Given the description of an element on the screen output the (x, y) to click on. 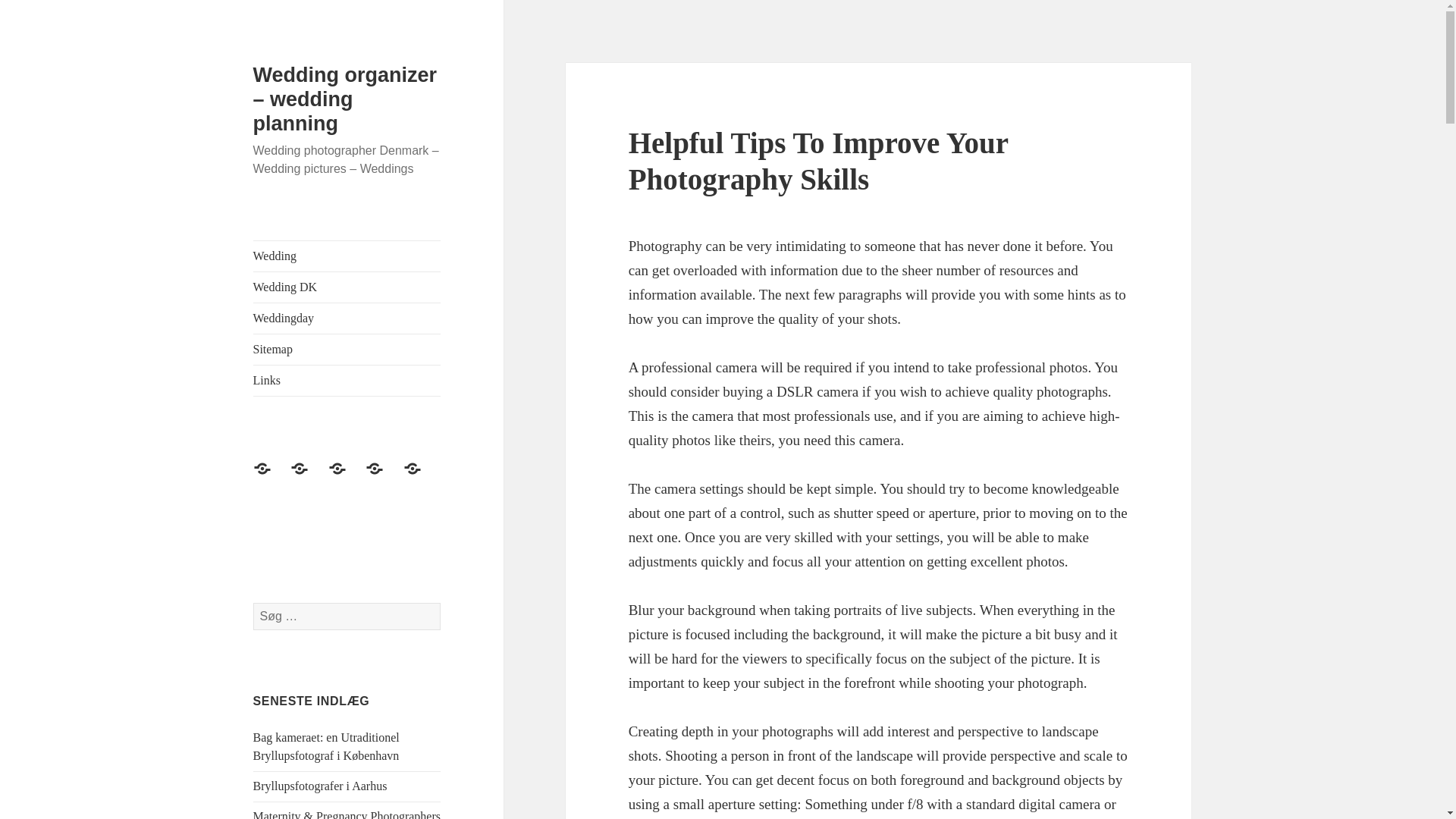
Sitemap (347, 349)
Wedding DK (307, 477)
Wedding DK (347, 286)
Wedding (347, 255)
Links (347, 380)
Bryllupsfotografer i Aarhus (320, 785)
Wedding (271, 477)
Weddingday (347, 318)
Weddingday (347, 477)
Sitemap (383, 477)
Links (421, 477)
